Given the description of an element on the screen output the (x, y) to click on. 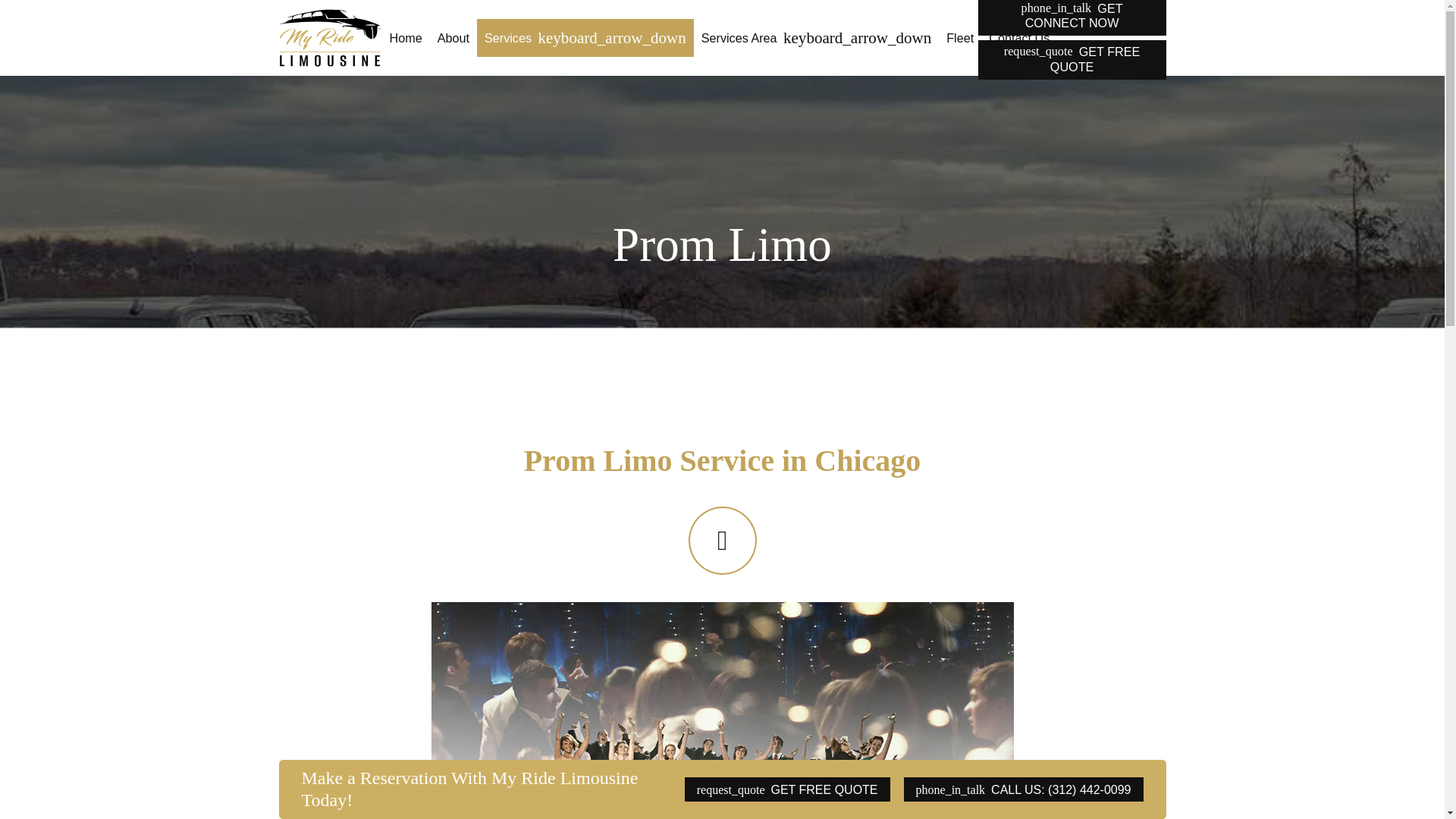
Services (585, 37)
Contact Us (1019, 37)
Fleet (960, 37)
Services Area (816, 37)
About (453, 37)
Home (405, 37)
